Given the description of an element on the screen output the (x, y) to click on. 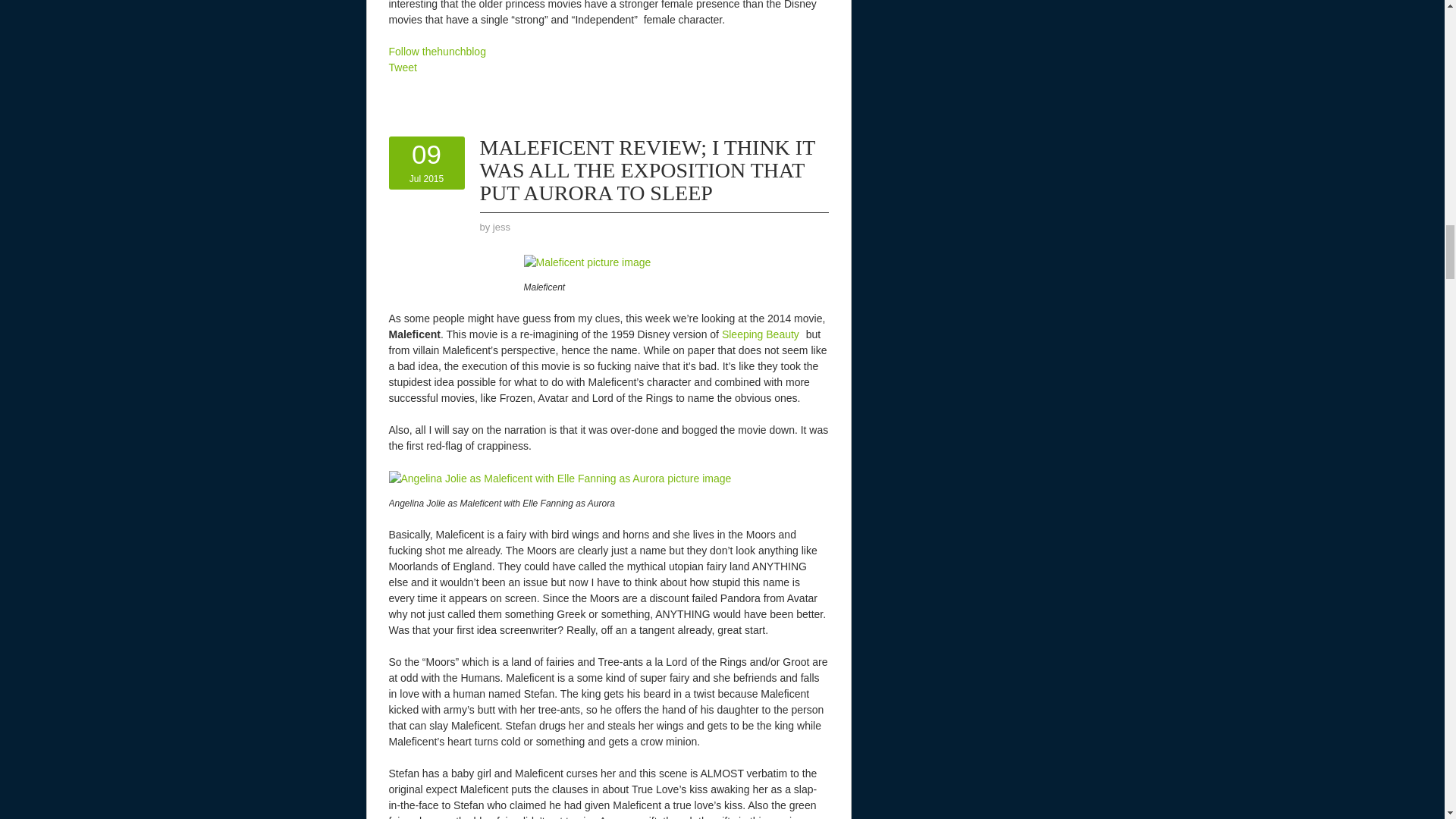
Follow thehunchblog (436, 51)
Sleeping Beauty (762, 334)
Tweet (402, 67)
jess (502, 226)
by jess (426, 162)
